Given the description of an element on the screen output the (x, y) to click on. 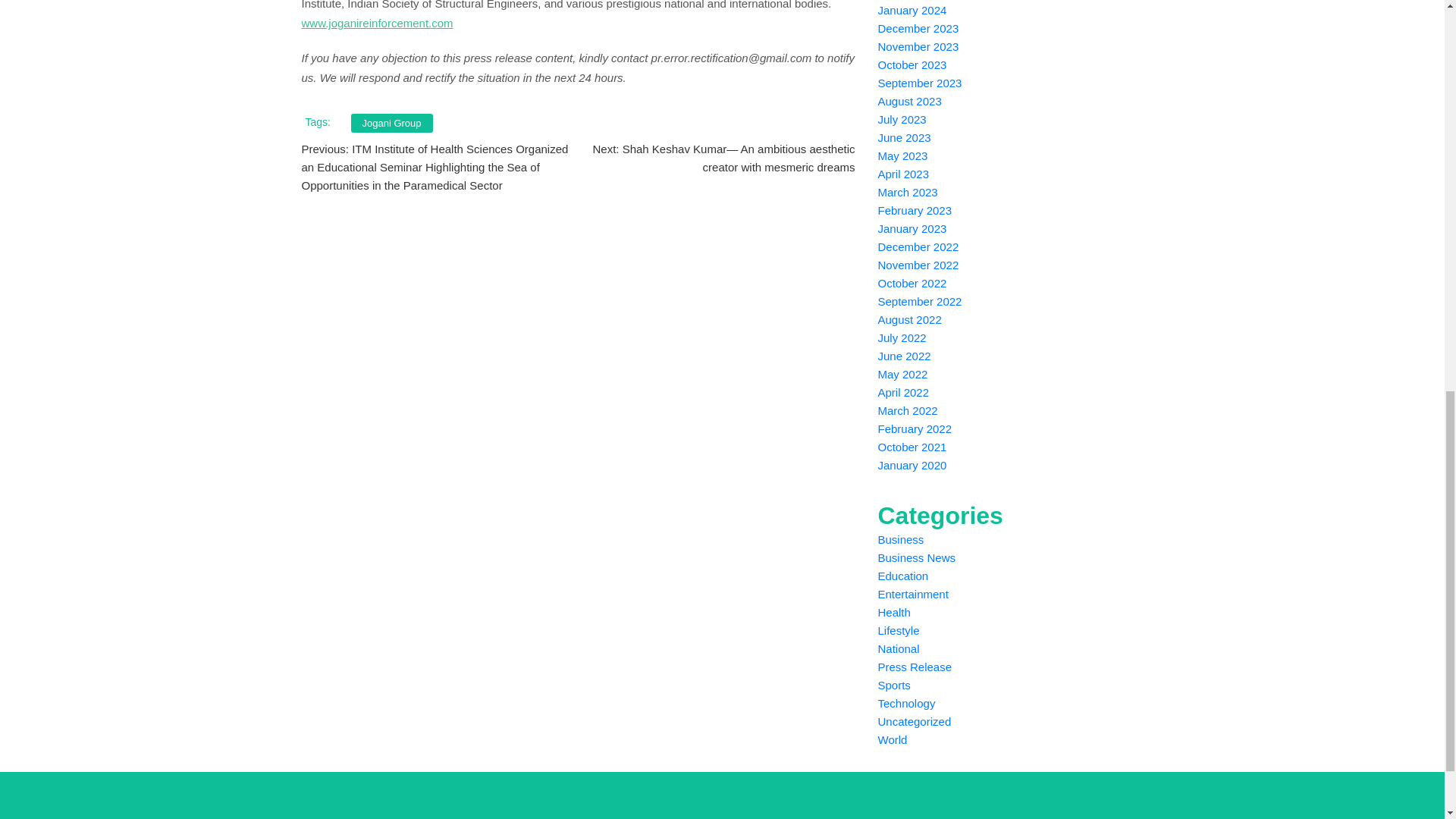
www.joganireinforcement.com (376, 22)
Jogani Group (391, 122)
